Given the description of an element on the screen output the (x, y) to click on. 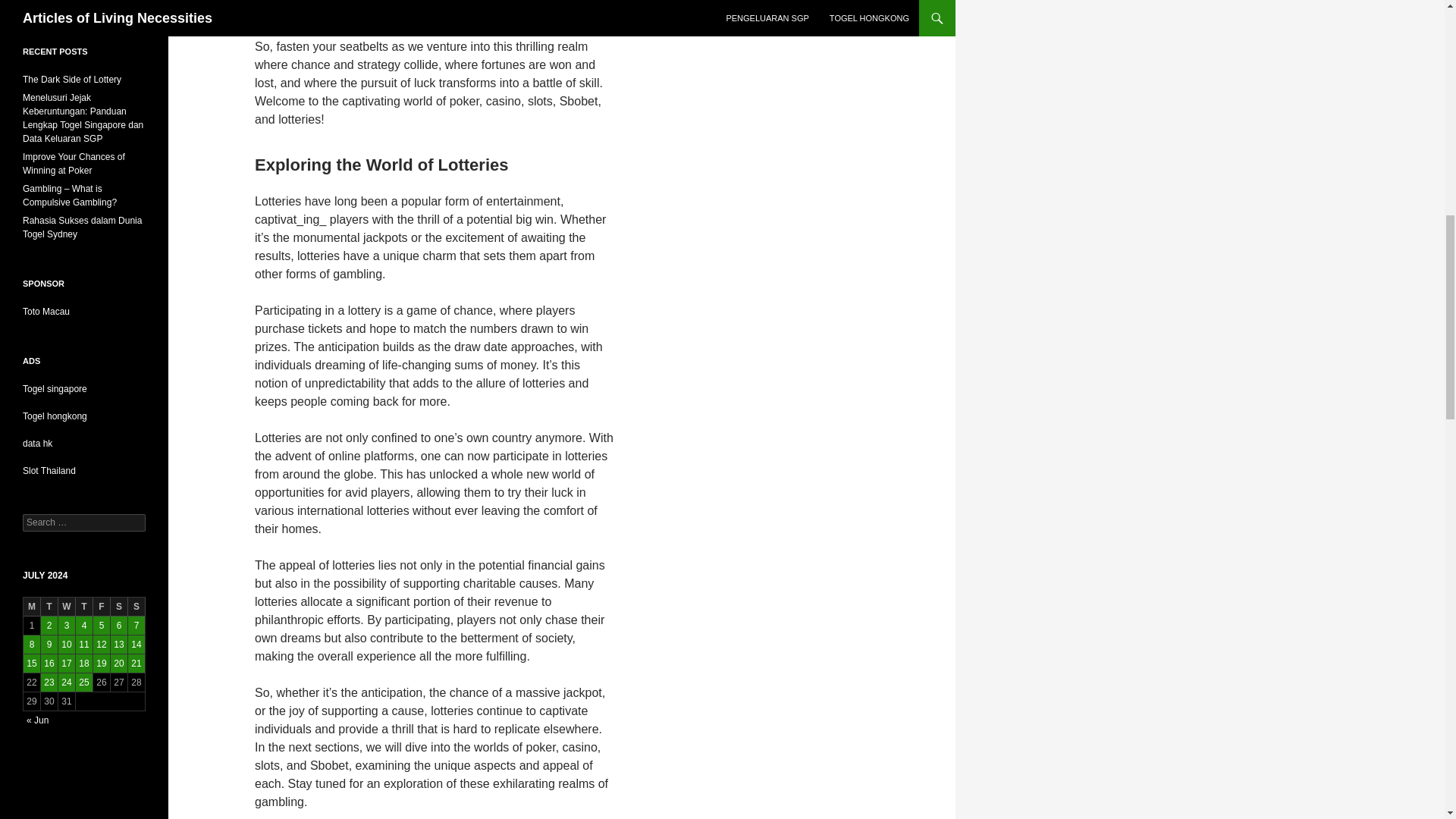
Thursday (84, 606)
Sunday (136, 606)
Saturday (119, 606)
Monday (31, 606)
Friday (101, 606)
Tuesday (49, 606)
Wednesday (66, 606)
